Given the description of an element on the screen output the (x, y) to click on. 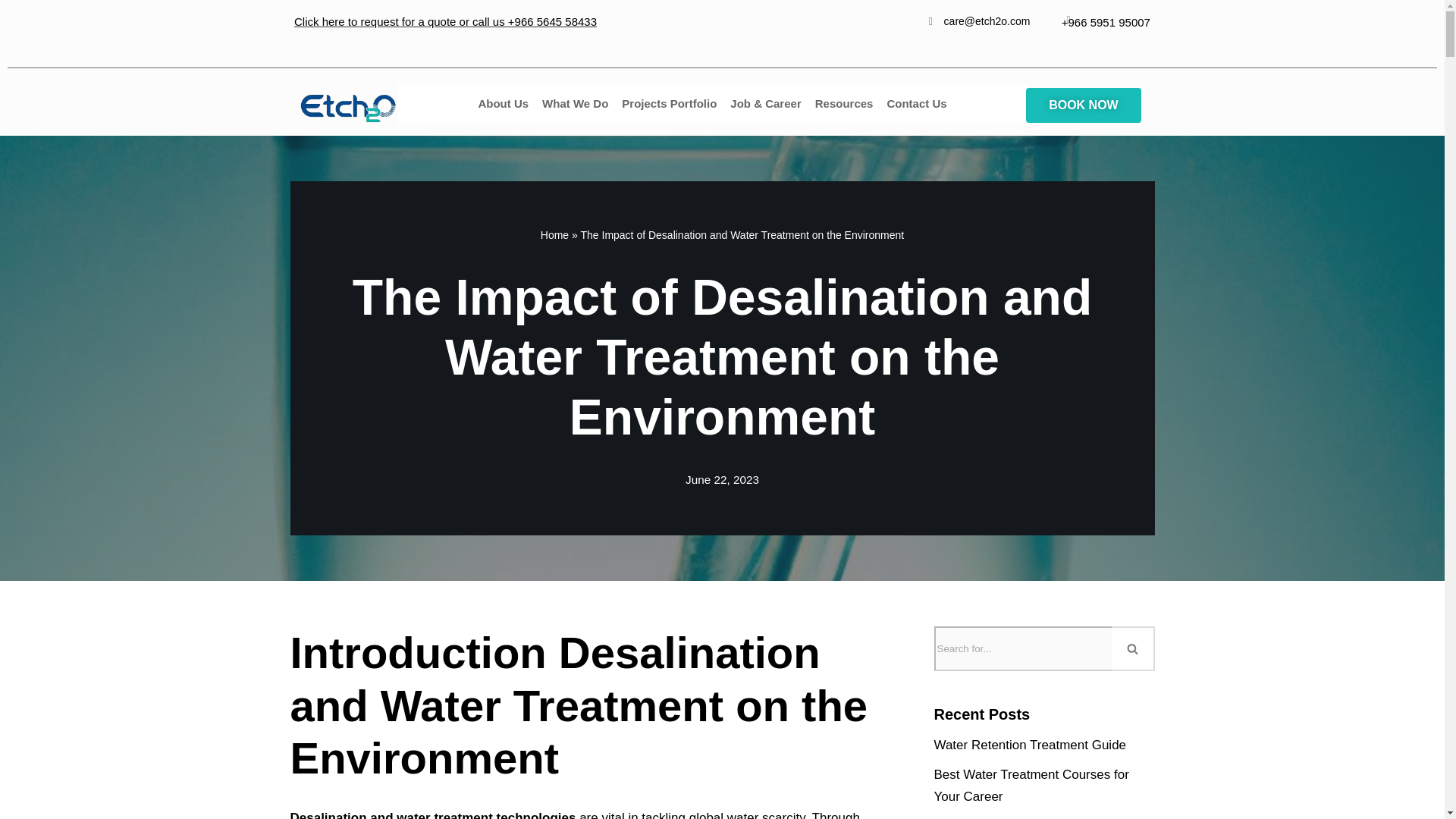
Contact Us (916, 103)
Skip to content (11, 31)
What We Do (574, 103)
About Us (502, 103)
BOOK NOW (1083, 104)
Resources (844, 103)
Projects Portfolio (668, 103)
